Given the description of an element on the screen output the (x, y) to click on. 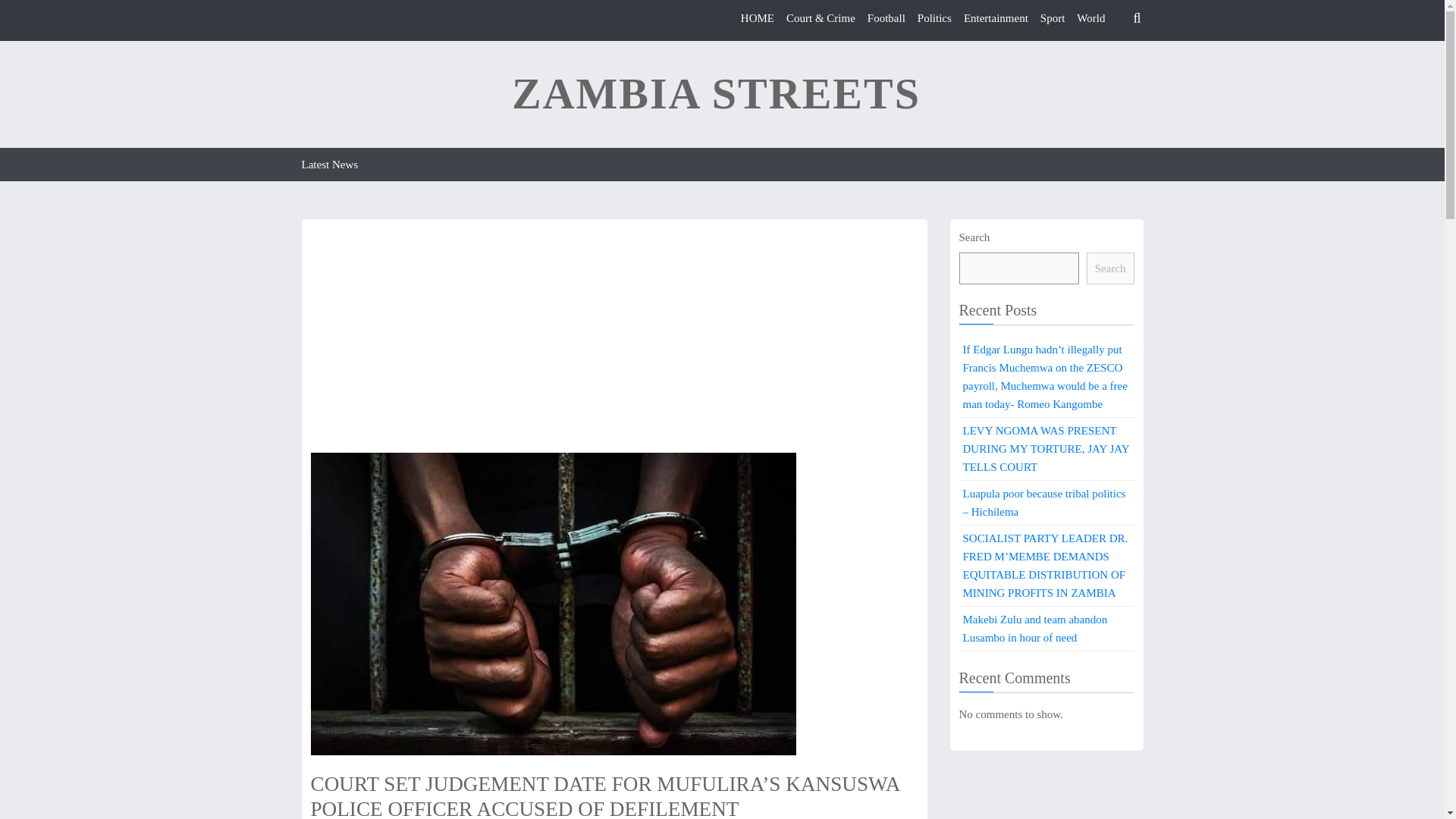
HOME (757, 18)
Search (1010, 82)
Makebi Zulu and team abandon Lusambo in hour of need (1046, 628)
ZAMBIA STREETS (716, 93)
Sport (1052, 18)
Search (1110, 268)
Entertainment (995, 18)
Politics (934, 18)
World (1090, 18)
